Given the description of an element on the screen output the (x, y) to click on. 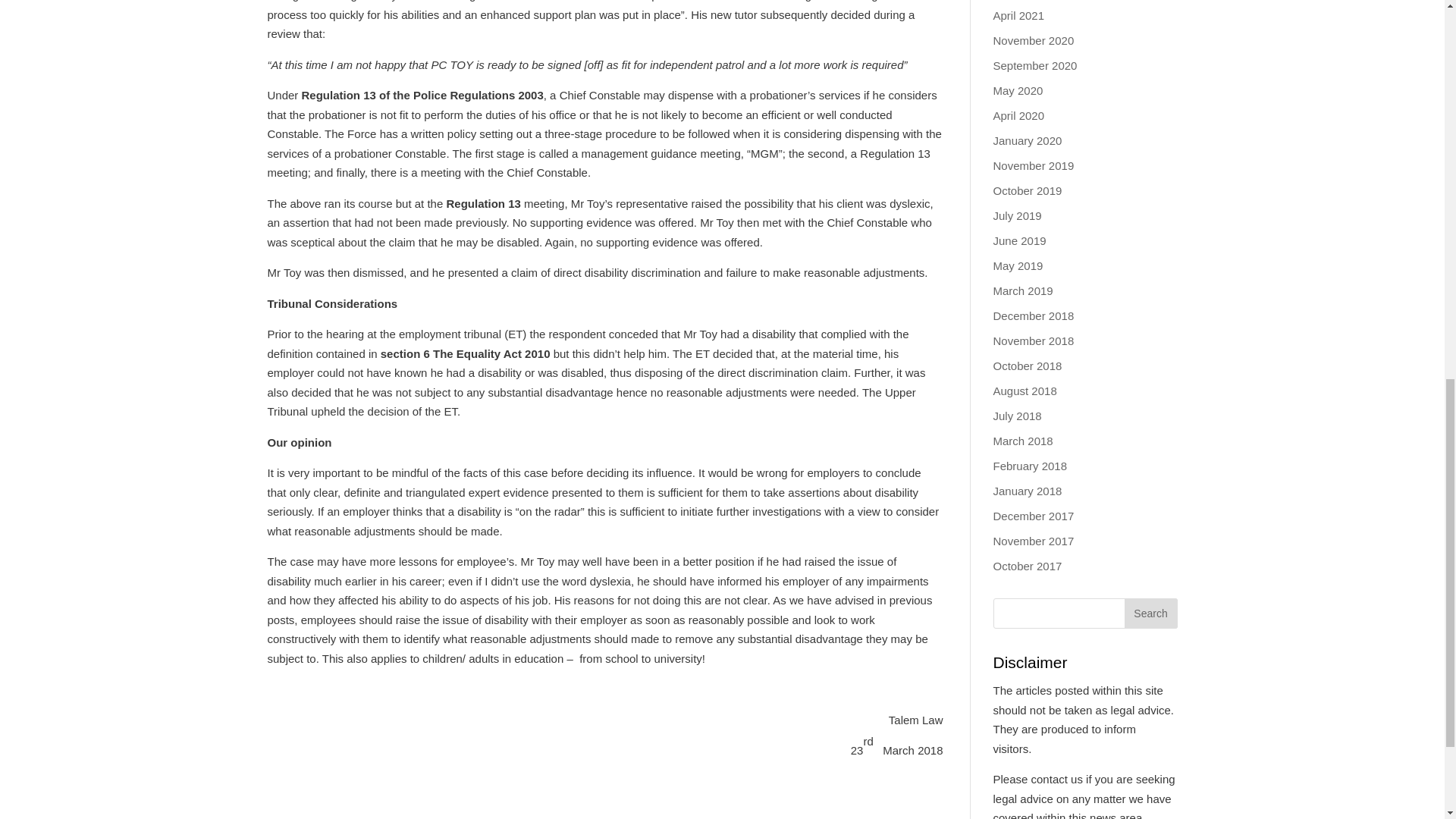
Search (1150, 613)
April 2021 (1018, 15)
May 2020 (1017, 90)
September 2020 (1034, 65)
November 2020 (1033, 40)
